Given the description of an element on the screen output the (x, y) to click on. 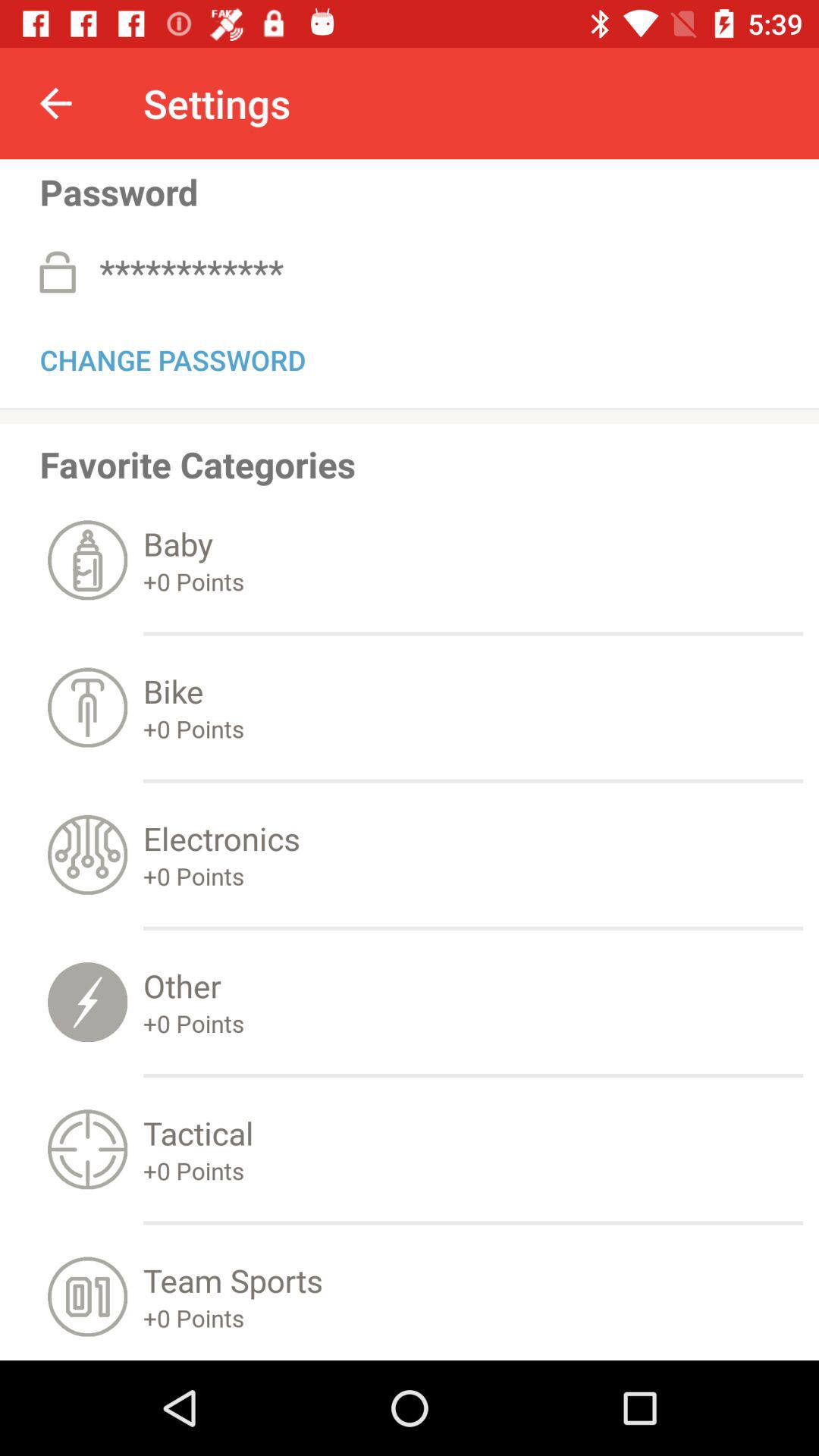
scroll until change password icon (172, 357)
